Given the description of an element on the screen output the (x, y) to click on. 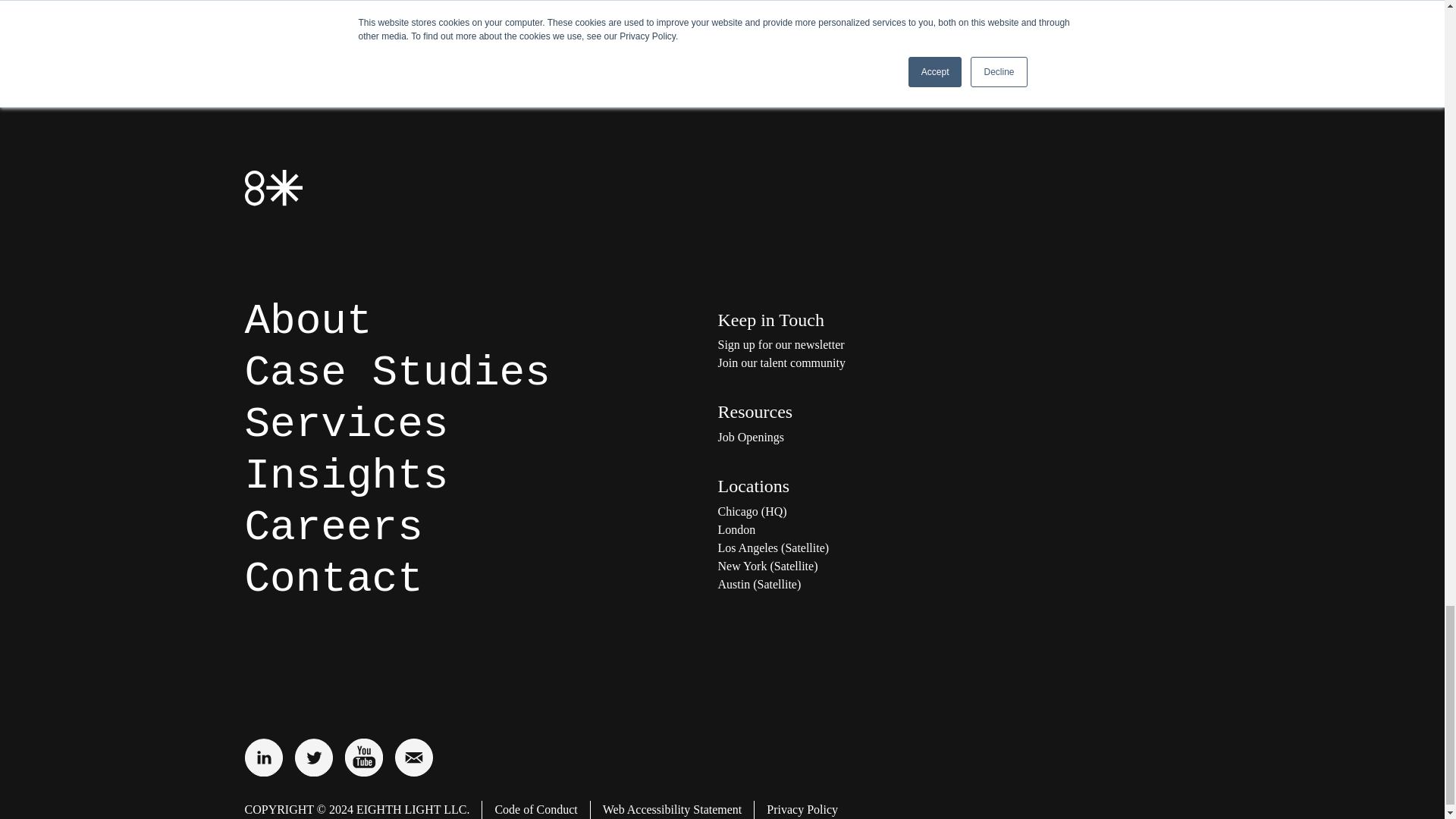
Services (346, 424)
Sign up for our newsletter (868, 344)
About (307, 321)
Join our talent community (868, 362)
Job Openings (868, 437)
Careers (333, 527)
Case Studies (397, 372)
Insights (346, 476)
Contact (333, 579)
